Given the description of an element on the screen output the (x, y) to click on. 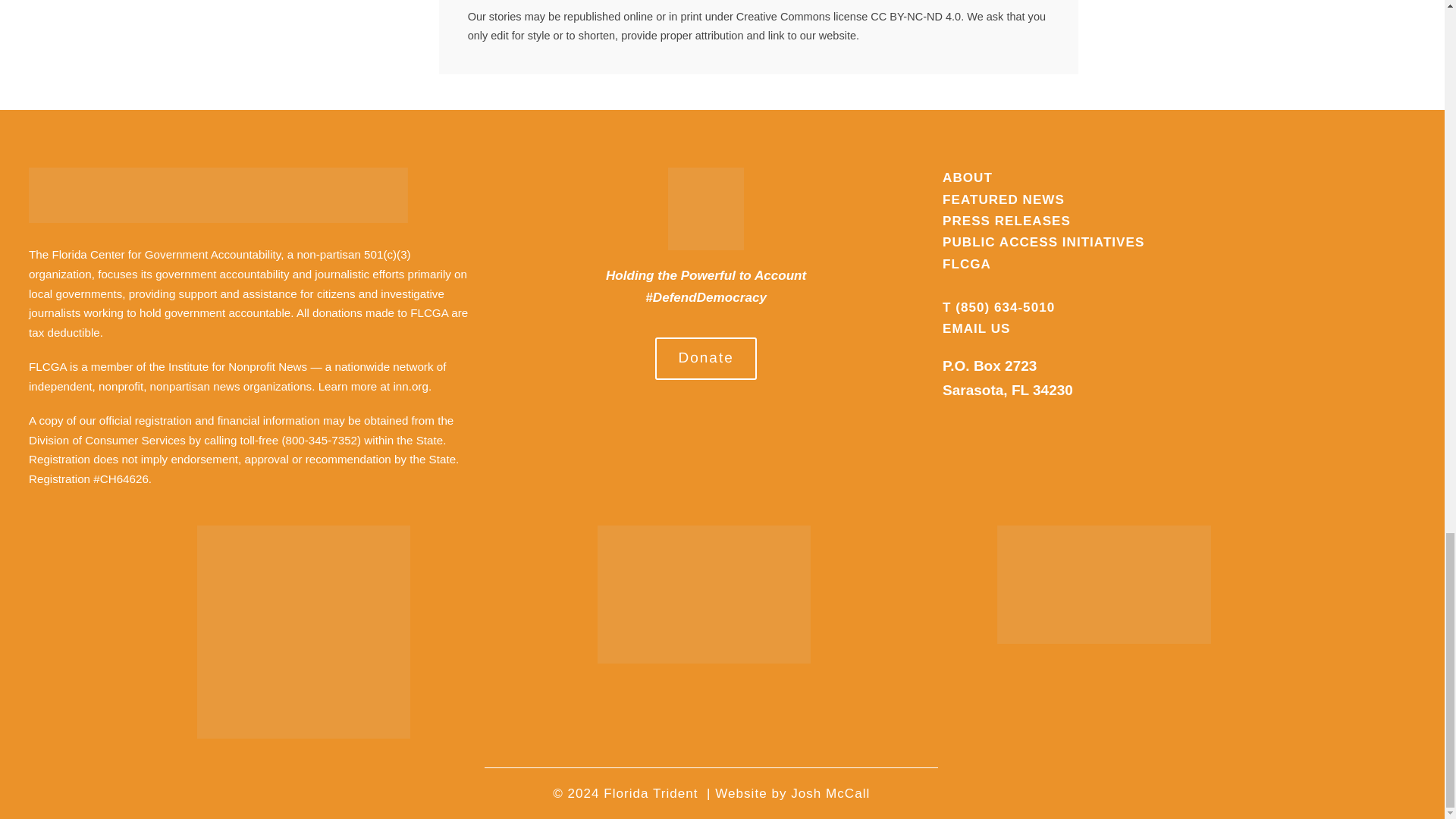
The Florida Center for Government Accountability (155, 254)
PRESS RELEASES (1006, 220)
FEATURED NEWS (1003, 199)
Donate (706, 358)
ABOUT (967, 177)
PUBLIC ACCESS INITIATIVES (1043, 242)
inn.org (410, 386)
FLCGA (966, 264)
